Given the description of an element on the screen output the (x, y) to click on. 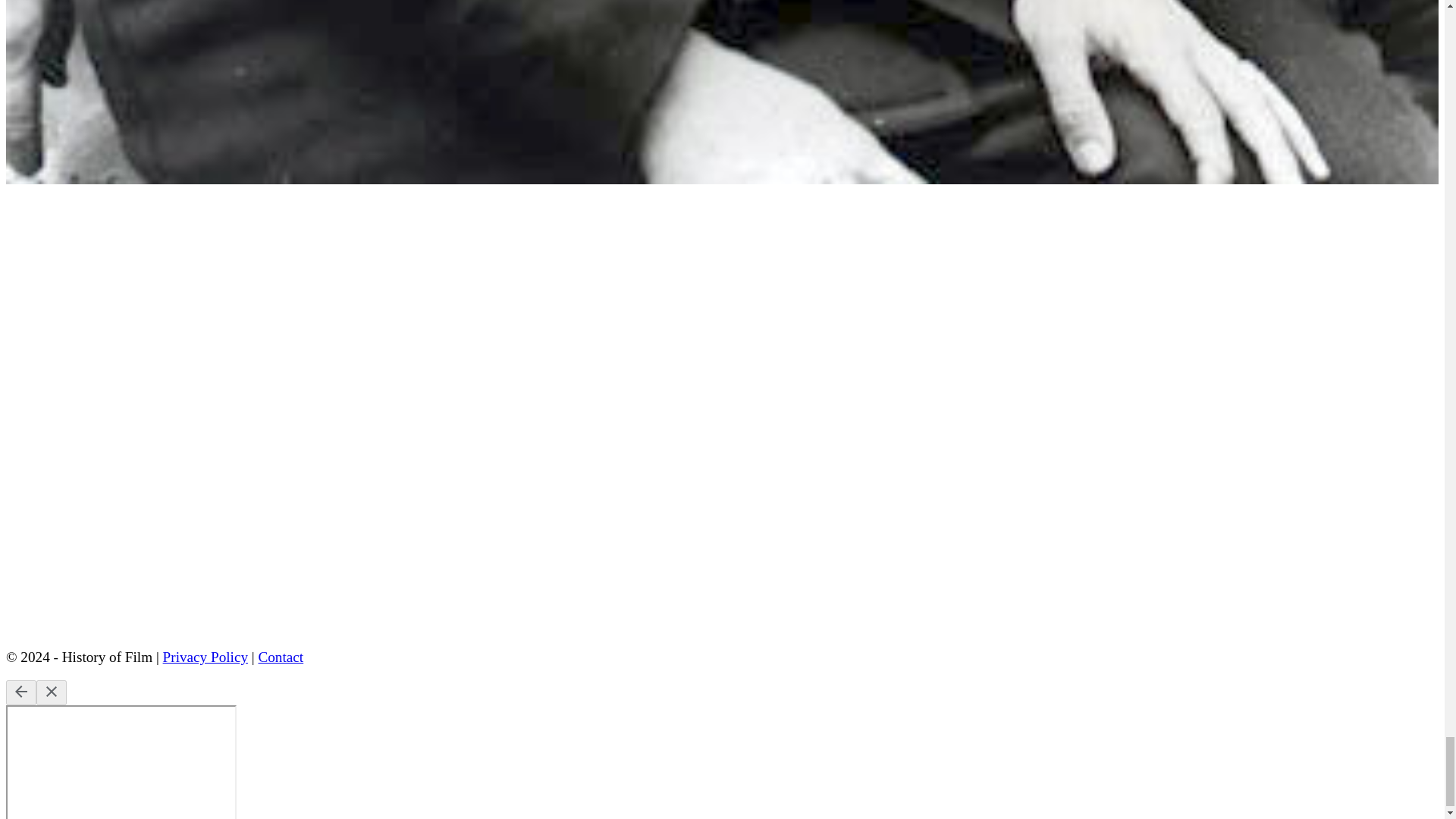
Contact (279, 657)
Privacy Policy (205, 657)
